Given the description of an element on the screen output the (x, y) to click on. 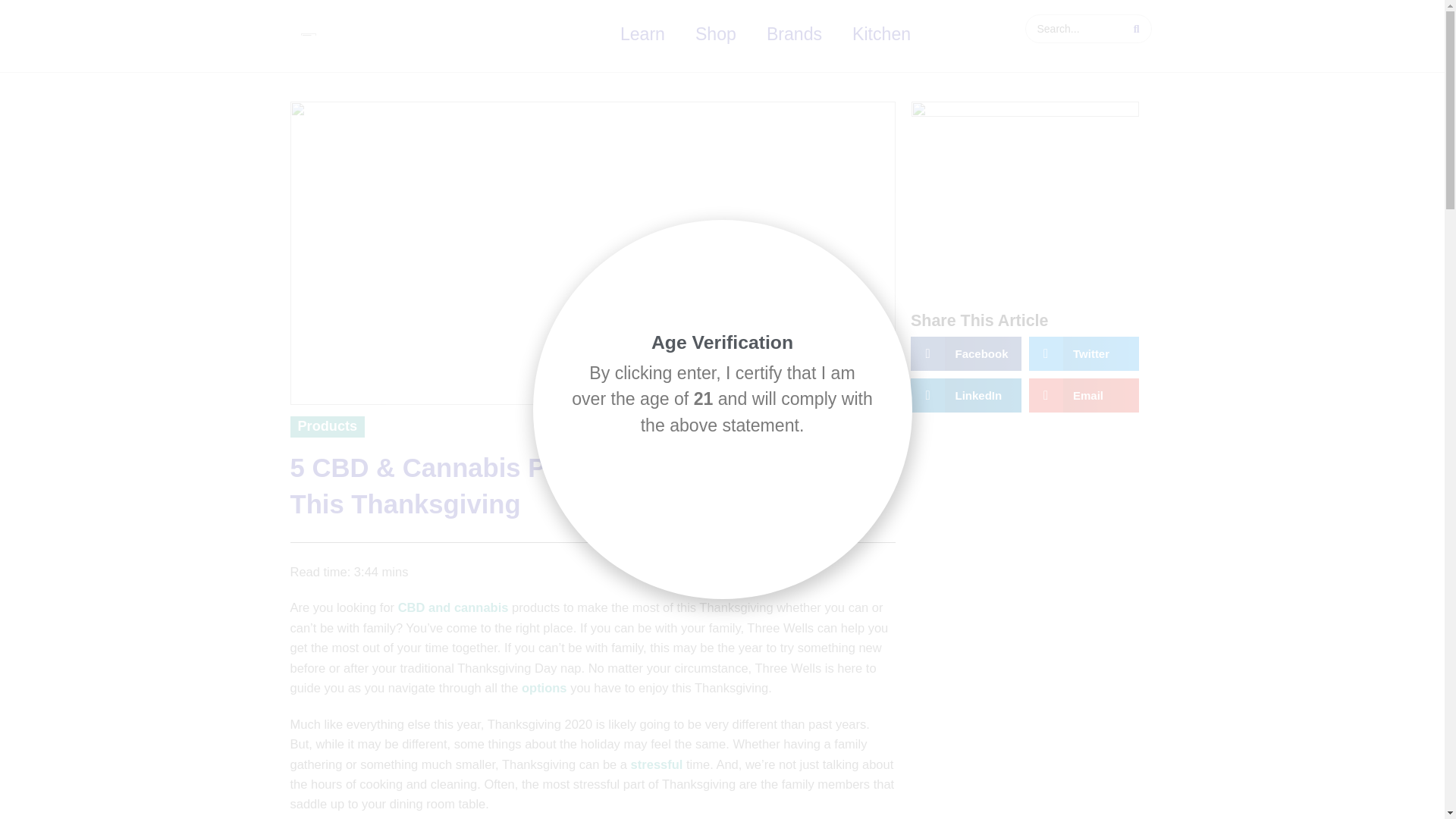
Kitchen (881, 34)
Learn (642, 34)
Shop (715, 34)
Brands (794, 34)
CBD and cannabis (452, 607)
stressful (656, 764)
options (544, 687)
